Given the description of an element on the screen output the (x, y) to click on. 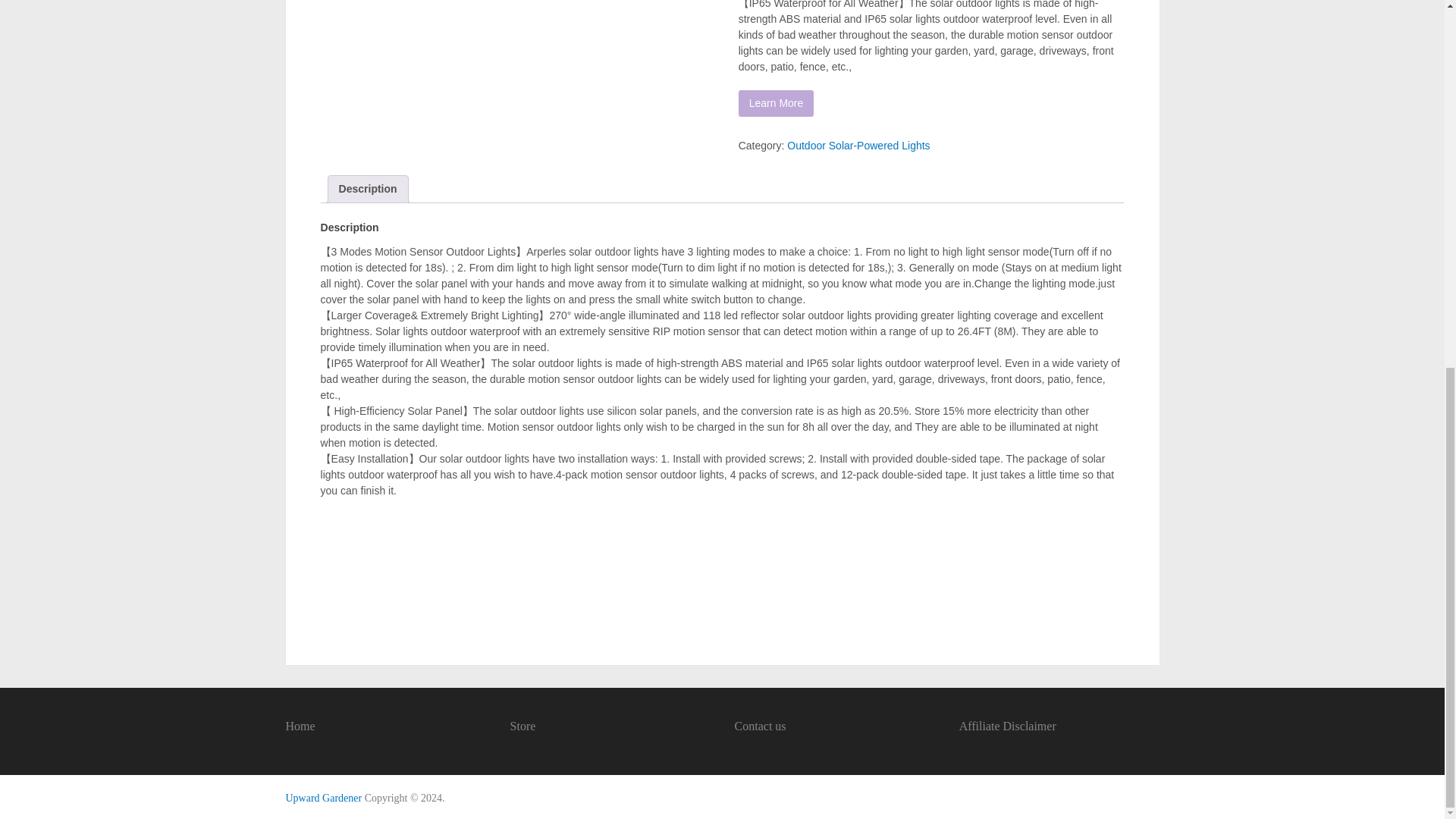
Outdoor Solar-Powered Lights (858, 145)
 Your home for vertical indoor farming and gardening (323, 797)
Contact us (760, 725)
Store (523, 725)
Upward Gardener (323, 797)
Affiliate Disclaimer (1008, 725)
Learn More (775, 103)
Description (368, 189)
Home (299, 725)
